Given the description of an element on the screen output the (x, y) to click on. 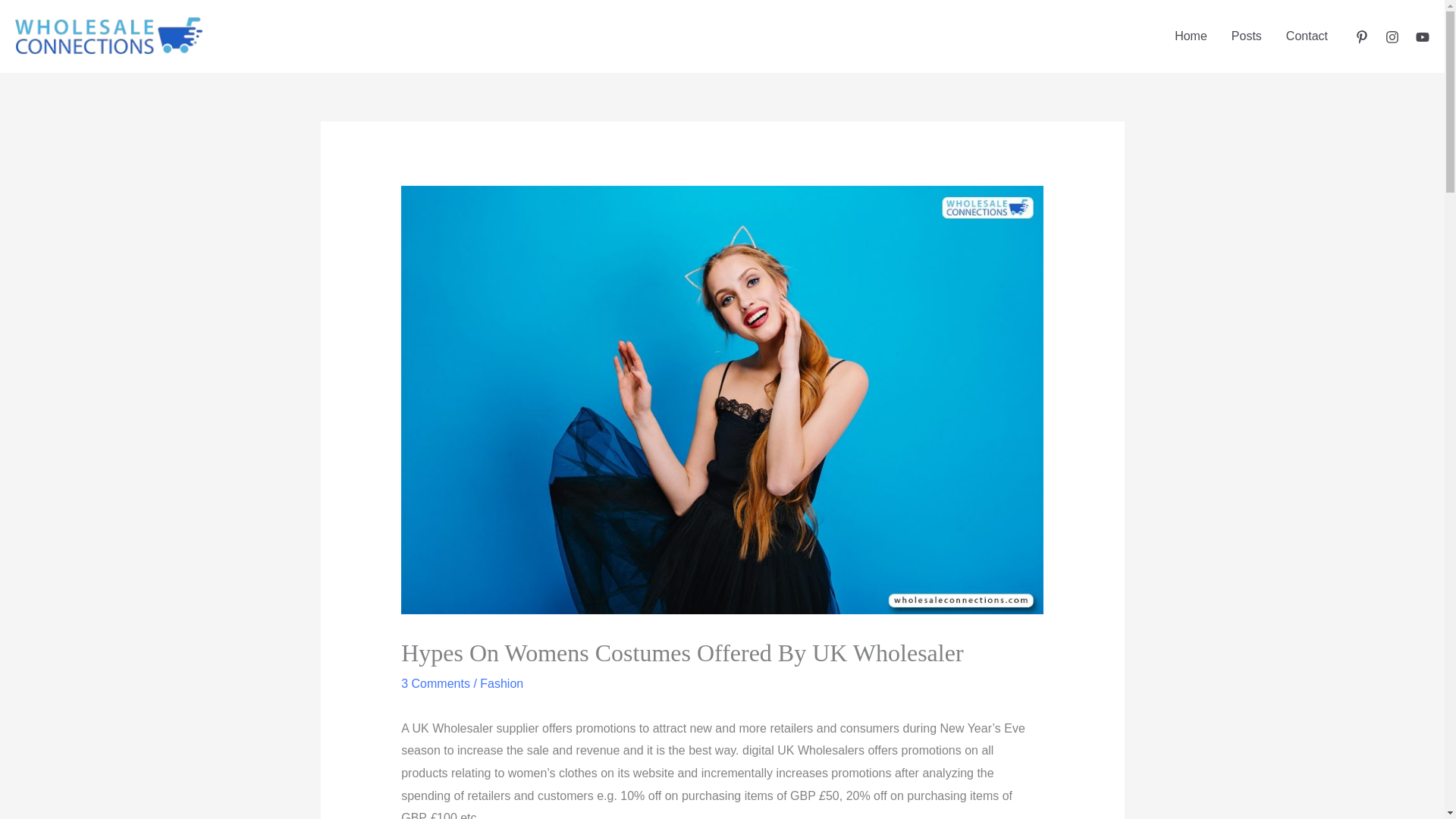
Home (1190, 36)
3 Comments (435, 683)
Fashion (501, 683)
Contact (1306, 36)
Posts (1247, 36)
